Given the description of an element on the screen output the (x, y) to click on. 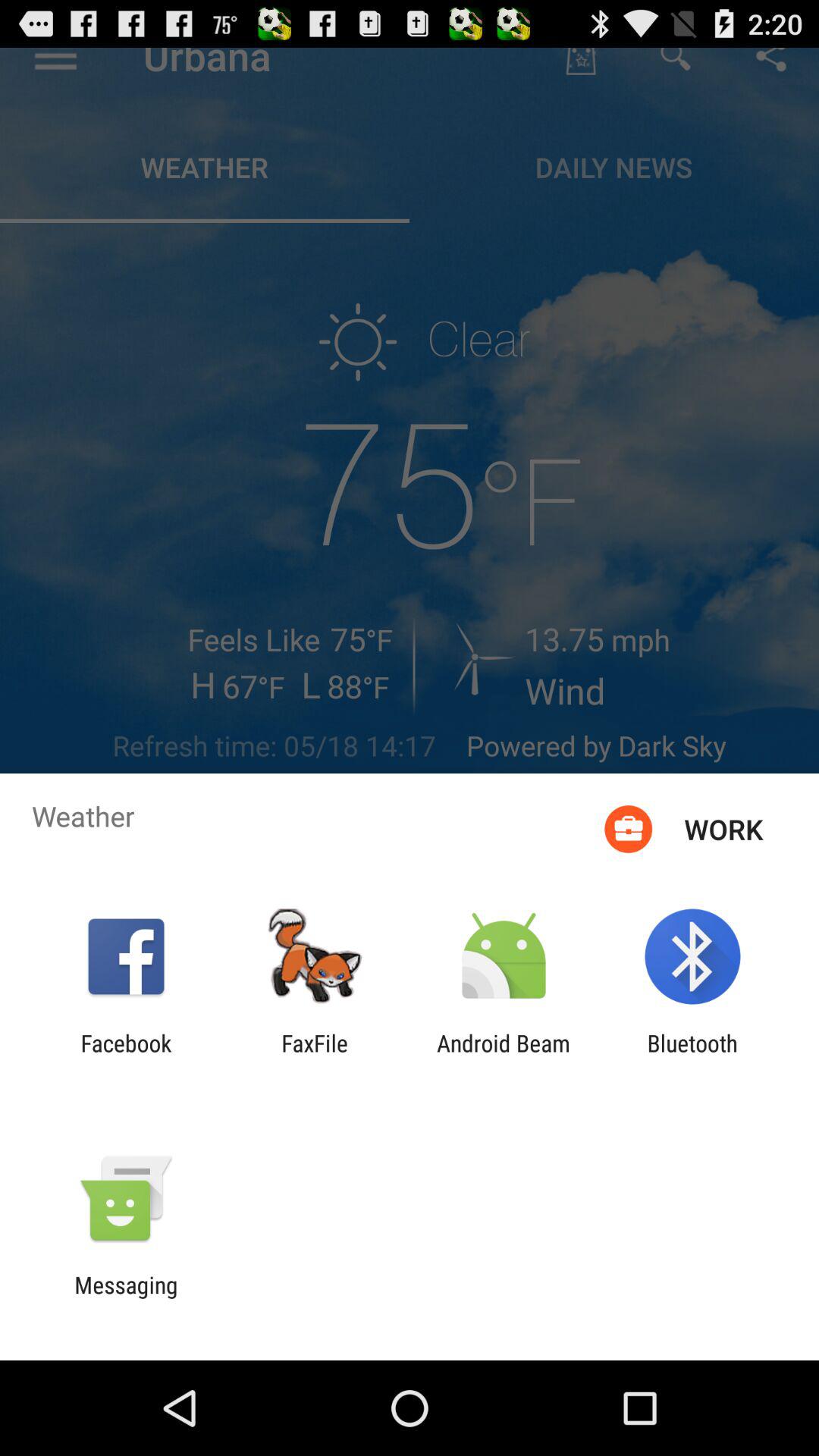
choose app to the right of the android beam app (692, 1056)
